Given the description of an element on the screen output the (x, y) to click on. 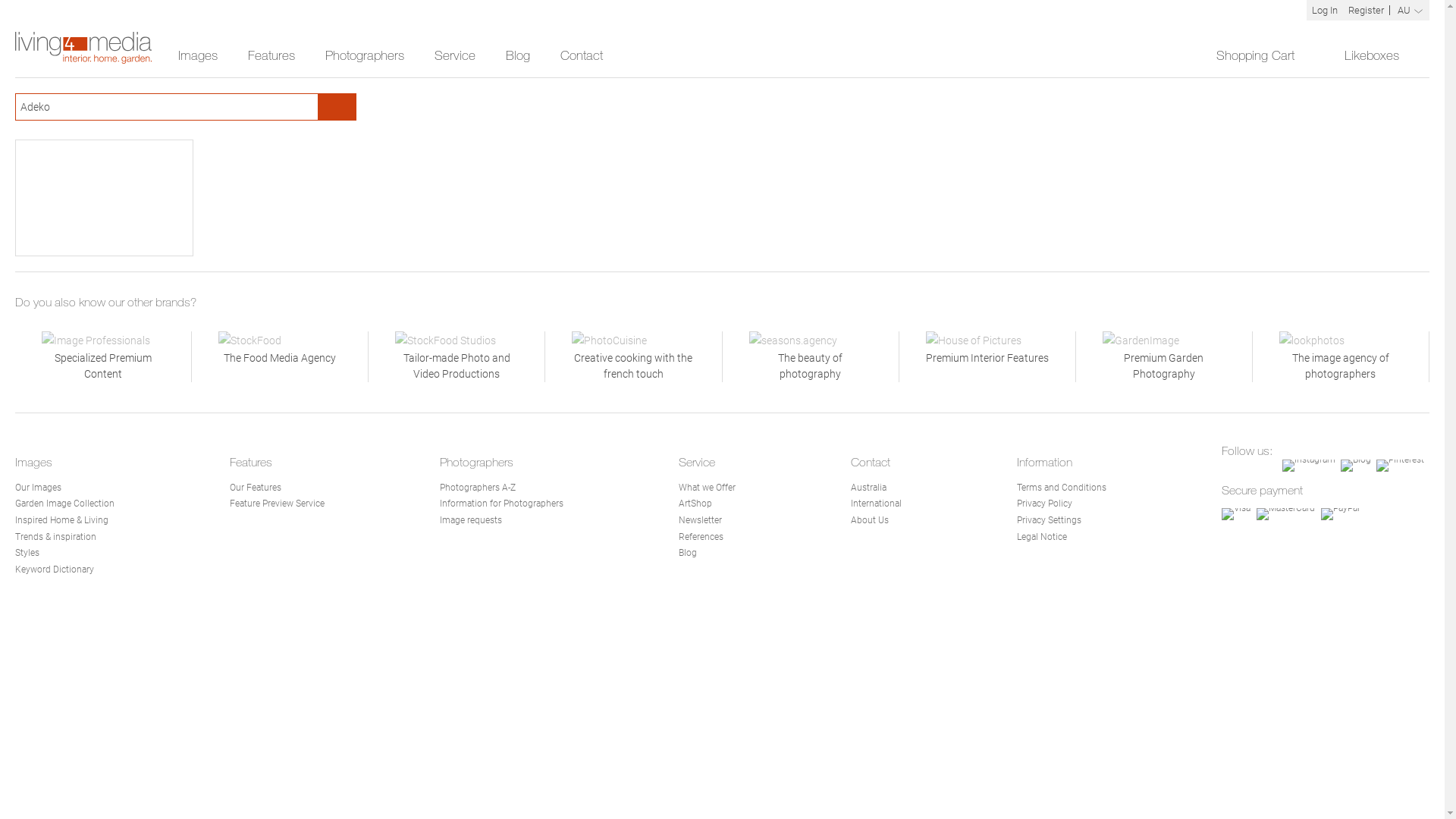
Specialized Premium Content Element type: text (103, 356)
Contact Element type: text (581, 56)
Trends & inspiration Element type: text (55, 536)
Styles Element type: text (27, 552)
About Us Element type: text (869, 519)
Newsletter Element type: text (699, 519)
Features Element type: text (271, 56)
International Element type: text (875, 503)
Image requests Element type: text (470, 519)
Pinterest Element type: hover (1400, 465)
Privacy Settings Element type: text (1048, 519)
Images Element type: text (197, 56)
Search tips Element type: hover (306, 106)
Visa Element type: hover (1235, 514)
Photographers Element type: text (364, 56)
The image agency of photographers Element type: text (1340, 356)
Premium Interior Features Element type: text (987, 356)
PayPal Element type: hover (1340, 514)
ArtShop Element type: text (695, 503)
Shopping Cart Element type: text (1265, 56)
Register Element type: text (1366, 9)
Terms and Conditions Element type: text (1061, 487)
Blog Element type: hover (1355, 465)
Information for Photographers Element type: text (501, 503)
AU Element type: text (1410, 9)
Garden Image Collection Element type: text (64, 503)
Blog Element type: text (687, 552)
References Element type: text (700, 536)
Our Images Element type: text (38, 487)
Legal Notice Element type: text (1041, 536)
Creative cooking with the french touch Element type: text (633, 356)
Instragram Element type: hover (1308, 465)
What we Offer Element type: text (706, 487)
Privacy Policy Element type: text (1044, 503)
Log In Element type: text (1324, 9)
The Food Media Agency Element type: text (279, 356)
Australia Element type: text (868, 487)
Service Element type: text (454, 56)
Premium Garden Photography Element type: text (1164, 356)
Tailor-made Photo and Video Productions Element type: text (456, 356)
Feature Preview Service Element type: text (276, 503)
Blog Element type: text (517, 56)
Photographers A-Z Element type: text (477, 487)
Search Element type: hover (337, 106)
Keyword Dictionary Element type: text (54, 569)
Likeboxes Element type: text (1379, 56)
Inspired Home & Living Element type: text (61, 519)
Our Features Element type: text (255, 487)
The beauty of photography Element type: text (809, 356)
MasterCard Element type: hover (1285, 514)
